Given the description of an element on the screen output the (x, y) to click on. 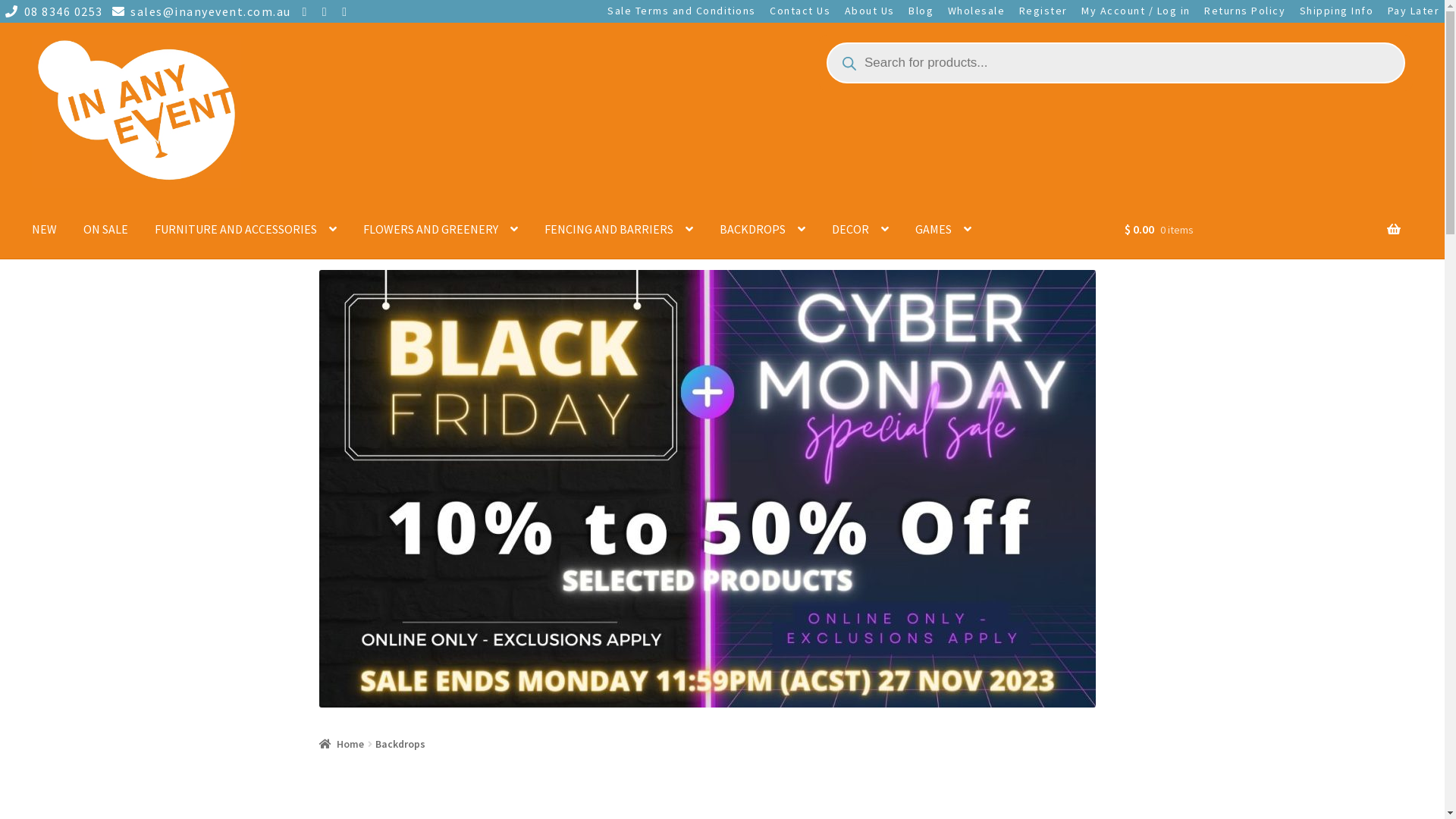
BACKDROPS Element type: text (762, 229)
Sale Terms and Conditions Element type: text (681, 10)
Shipping Info Element type: text (1335, 10)
Register Element type: text (1042, 10)
FURNITURE AND ACCESSORIES Element type: text (245, 229)
Returns Policy Element type: text (1244, 10)
GAMES Element type: text (943, 229)
My Account / Log in Element type: text (1135, 10)
FLOWERS AND GREENERY Element type: text (440, 229)
$ 0.00 0 items Element type: text (1262, 238)
NEW Element type: text (44, 229)
sales@inanyevent.com.au Element type: text (198, 10)
Blog Element type: text (920, 10)
Skip to navigation Element type: text (31, 34)
Pay Later Element type: text (1412, 10)
ON SALE Element type: text (105, 229)
Wholesale Element type: text (975, 10)
FENCING AND BARRIERS Element type: text (618, 229)
DECOR Element type: text (859, 229)
Home Element type: text (341, 743)
About Us Element type: text (868, 10)
Contact Us Element type: text (799, 10)
08 8346 0253 Element type: text (51, 10)
